Given the description of an element on the screen output the (x, y) to click on. 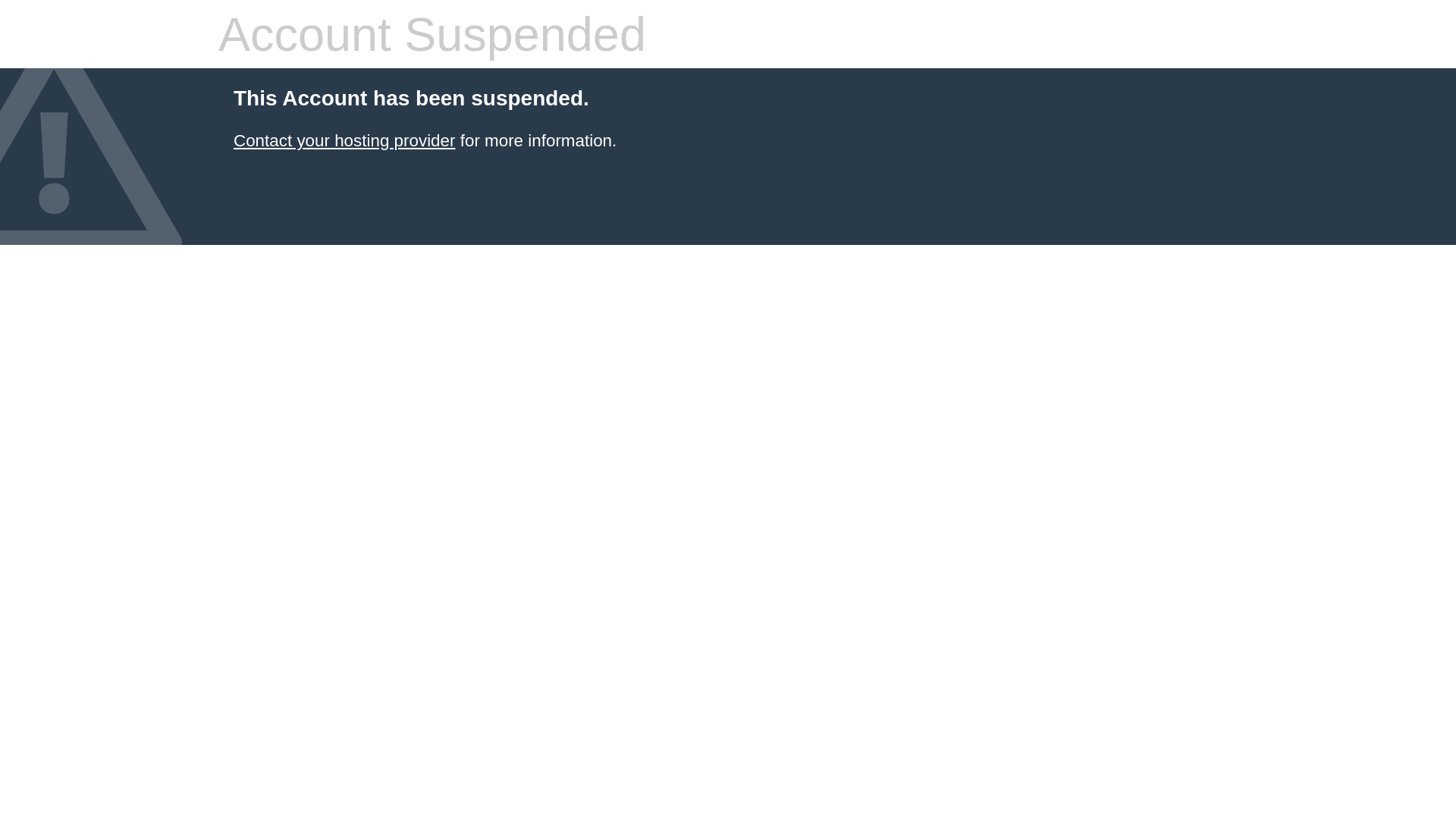
Contact your hosting provider Element type: text (344, 140)
